Given the description of an element on the screen output the (x, y) to click on. 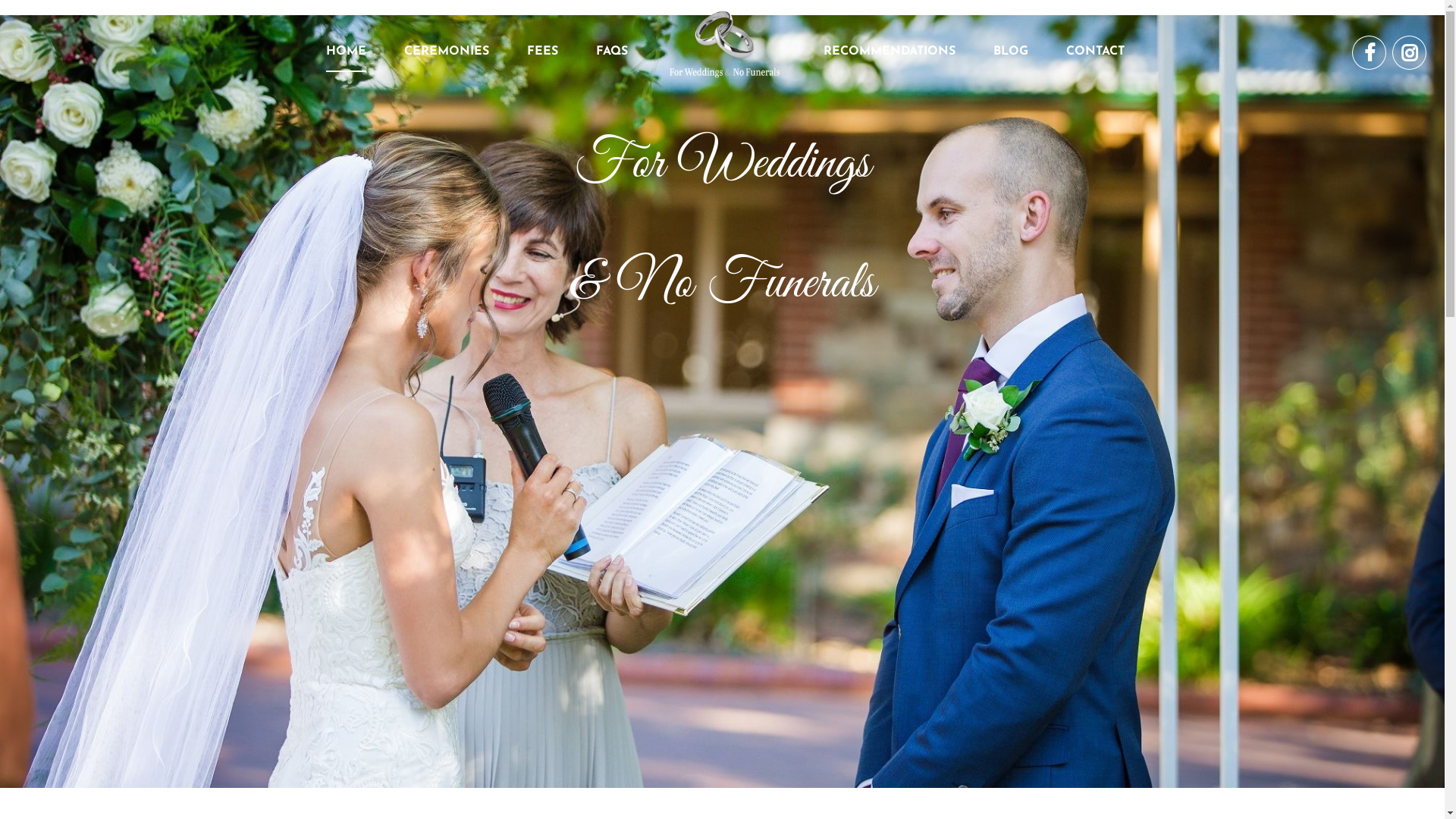
RECOMMENDATIONS Element type: text (889, 51)
HOME Element type: text (346, 52)
FEES Element type: text (541, 51)
FAQS Element type: text (611, 51)
CONTACT Element type: text (1095, 51)
BLOG Element type: text (1010, 51)
CEREMONIES Element type: text (445, 51)
